Given the description of an element on the screen output the (x, y) to click on. 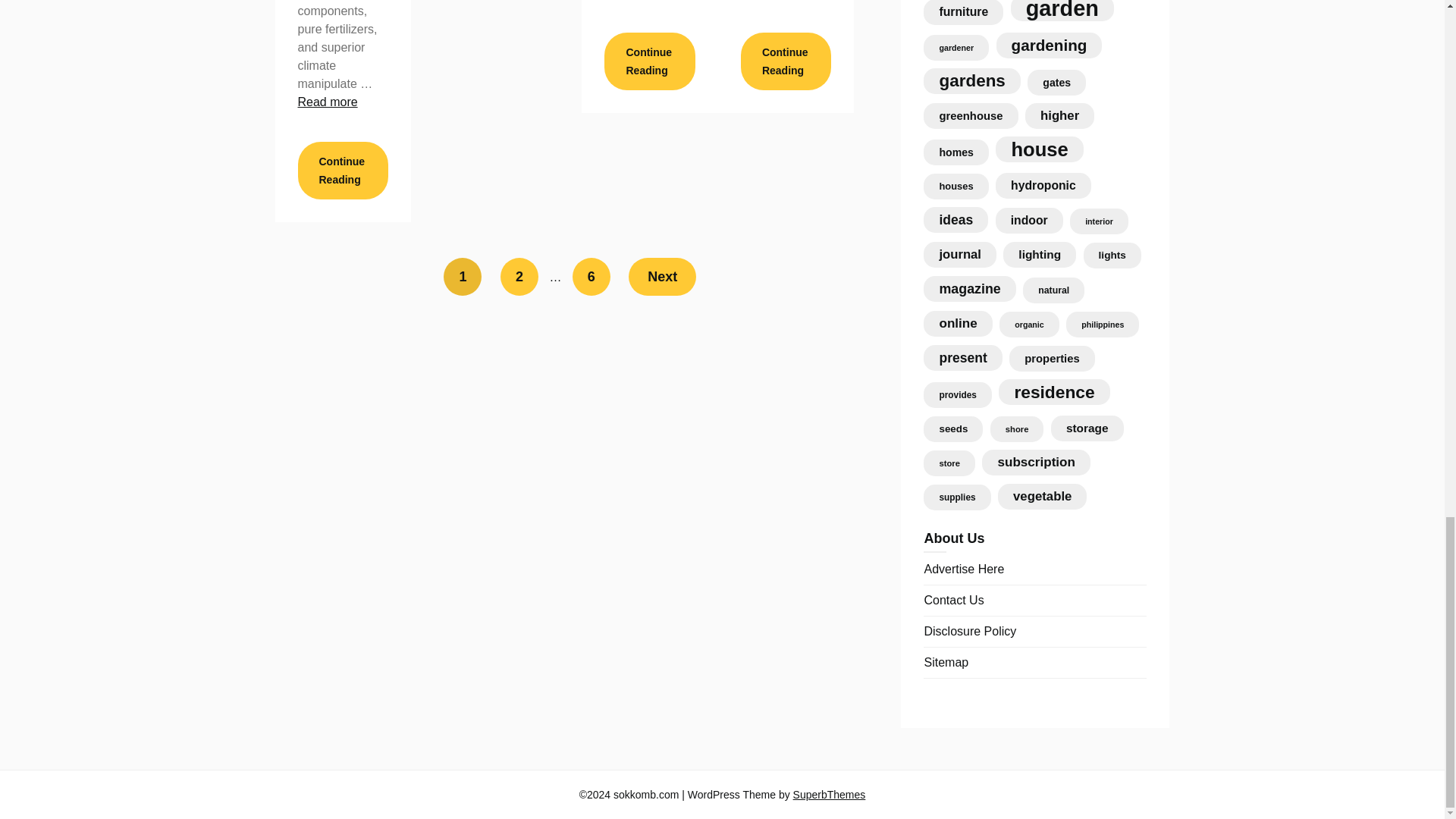
Continue Reading (342, 170)
Continue Reading (649, 61)
Read more (326, 101)
